Given the description of an element on the screen output the (x, y) to click on. 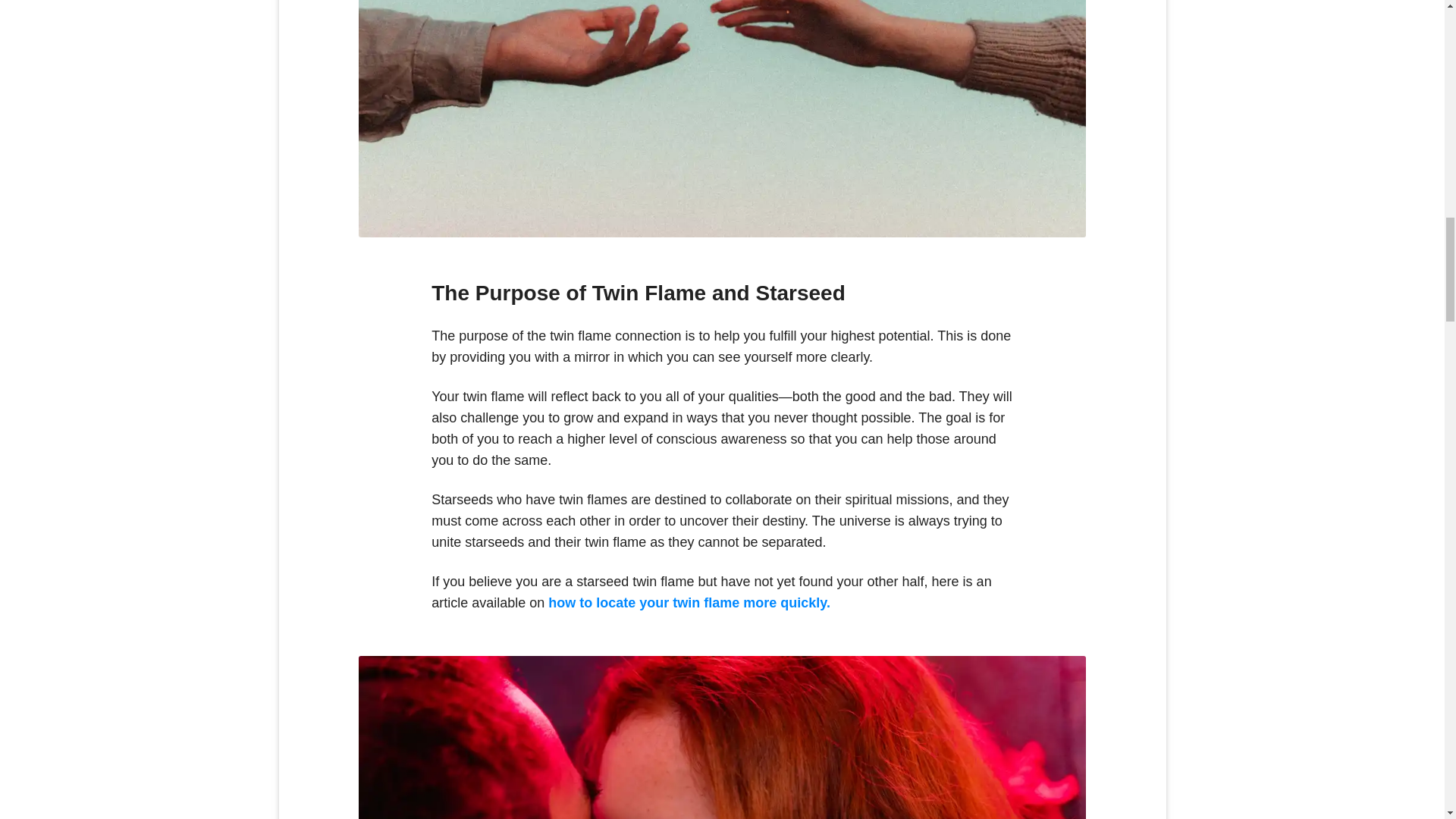
how to locate your twin flame more quickly. (688, 602)
